Given the description of an element on the screen output the (x, y) to click on. 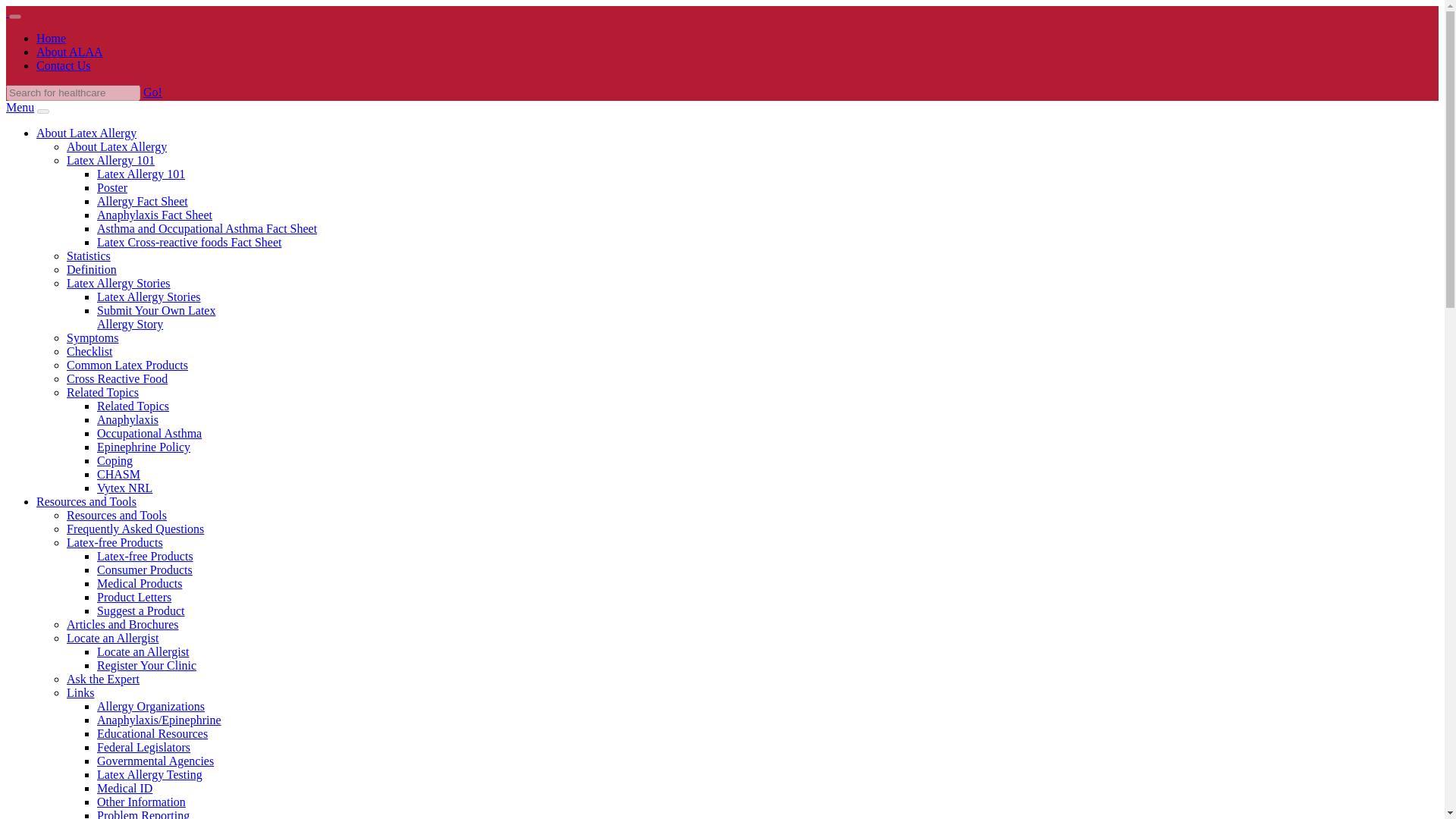
About ALAA (69, 51)
About Latex Allergy (116, 146)
Latex Allergy Stories (148, 296)
CHASM (118, 473)
Latex Allergy 101 (140, 173)
Related Topics (102, 391)
Checklist (89, 350)
Epinephrine Policy (143, 446)
Asthma and Occupational Asthma Fact Sheet (207, 228)
Definition (91, 269)
Poster (112, 187)
Statistics (88, 255)
Latex Allergy Stories (118, 282)
Coping (114, 460)
Occupational Asthma (149, 432)
